Given the description of an element on the screen output the (x, y) to click on. 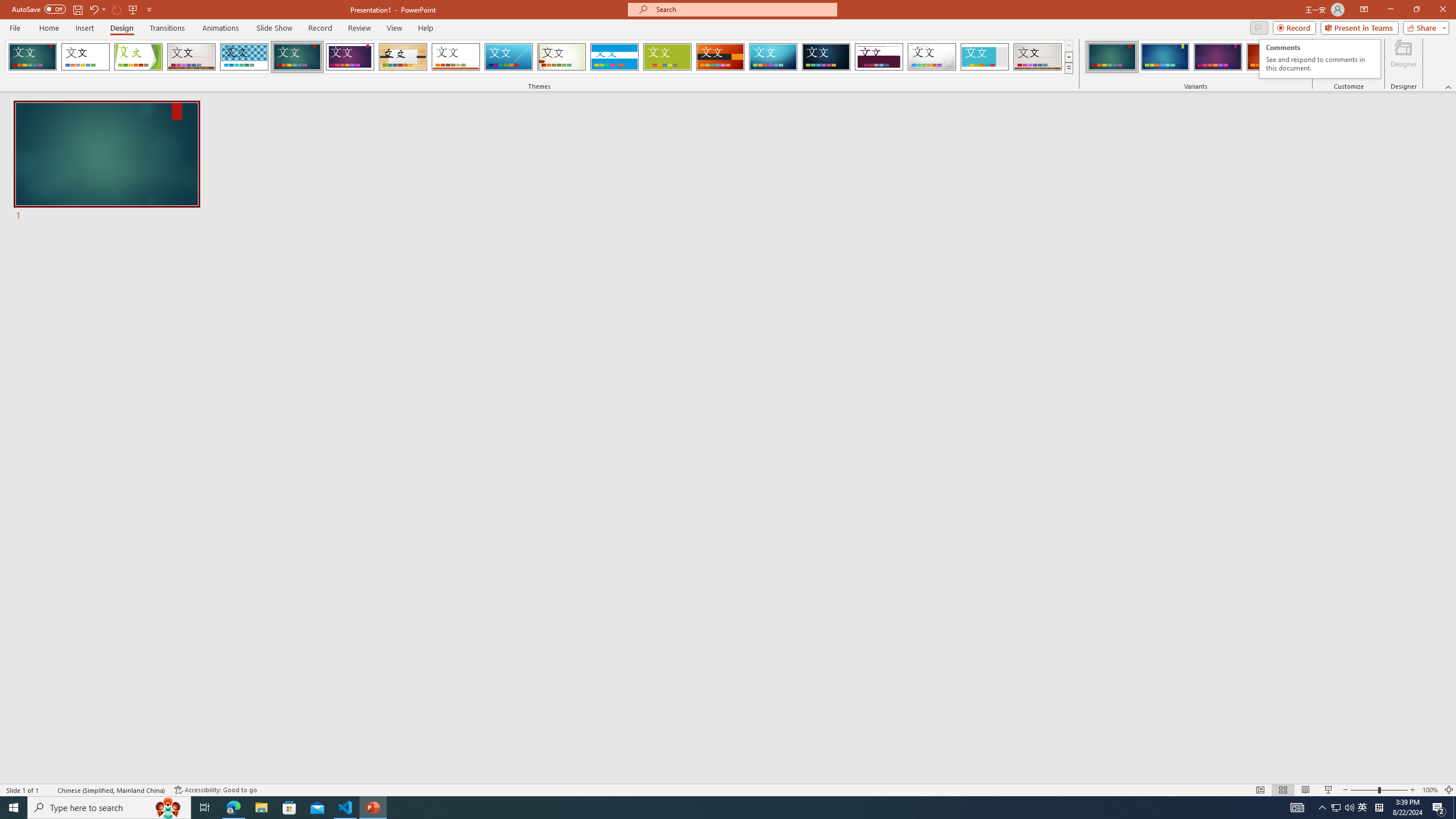
Dividend Loading Preview... (879, 56)
Ion Variant 3 (1217, 56)
Format Background (1360, 58)
AutomationID: SlideThemesGallery (539, 56)
Wisp Loading Preview... (561, 56)
Damask Loading Preview... (826, 56)
